Given the description of an element on the screen output the (x, y) to click on. 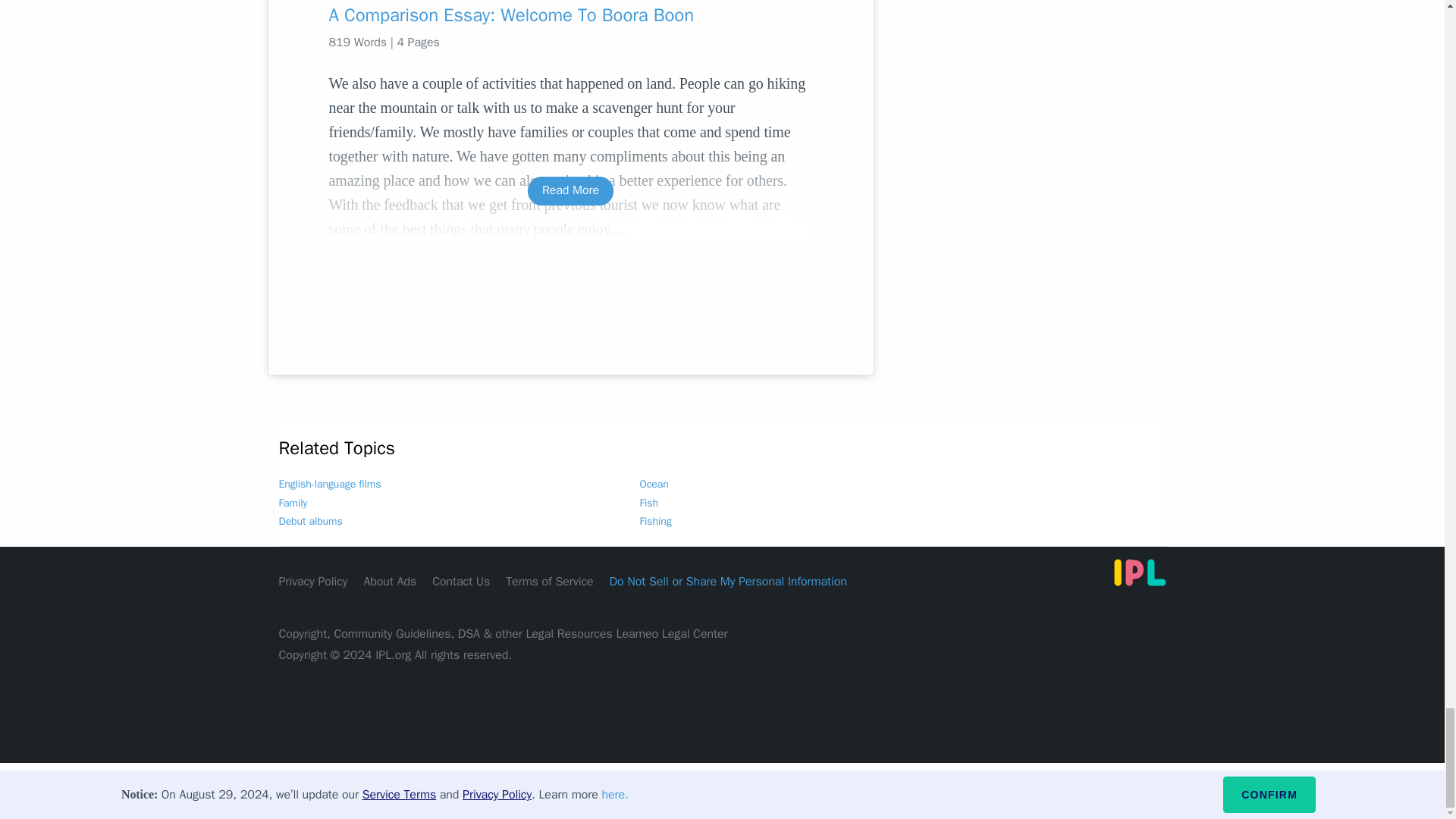
Family (293, 502)
Ocean (654, 483)
Terms of Service (548, 581)
Debut albums (310, 521)
Fish (649, 502)
Privacy Policy (313, 581)
Contact Us (460, 581)
English-language films (330, 483)
About Ads (389, 581)
Fishing (655, 521)
